Given the description of an element on the screen output the (x, y) to click on. 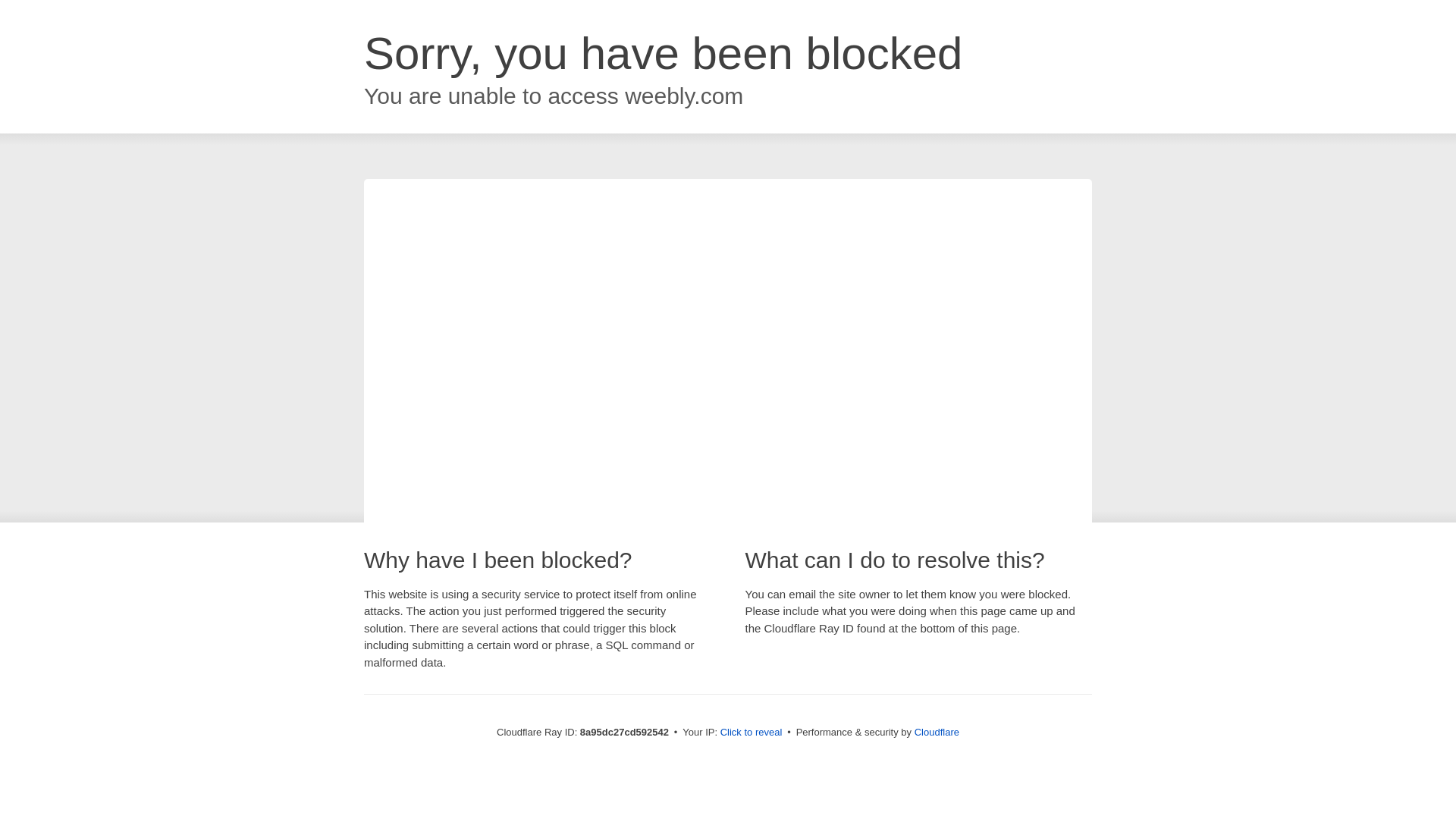
Click to reveal (751, 732)
Cloudflare (936, 731)
